Given the description of an element on the screen output the (x, y) to click on. 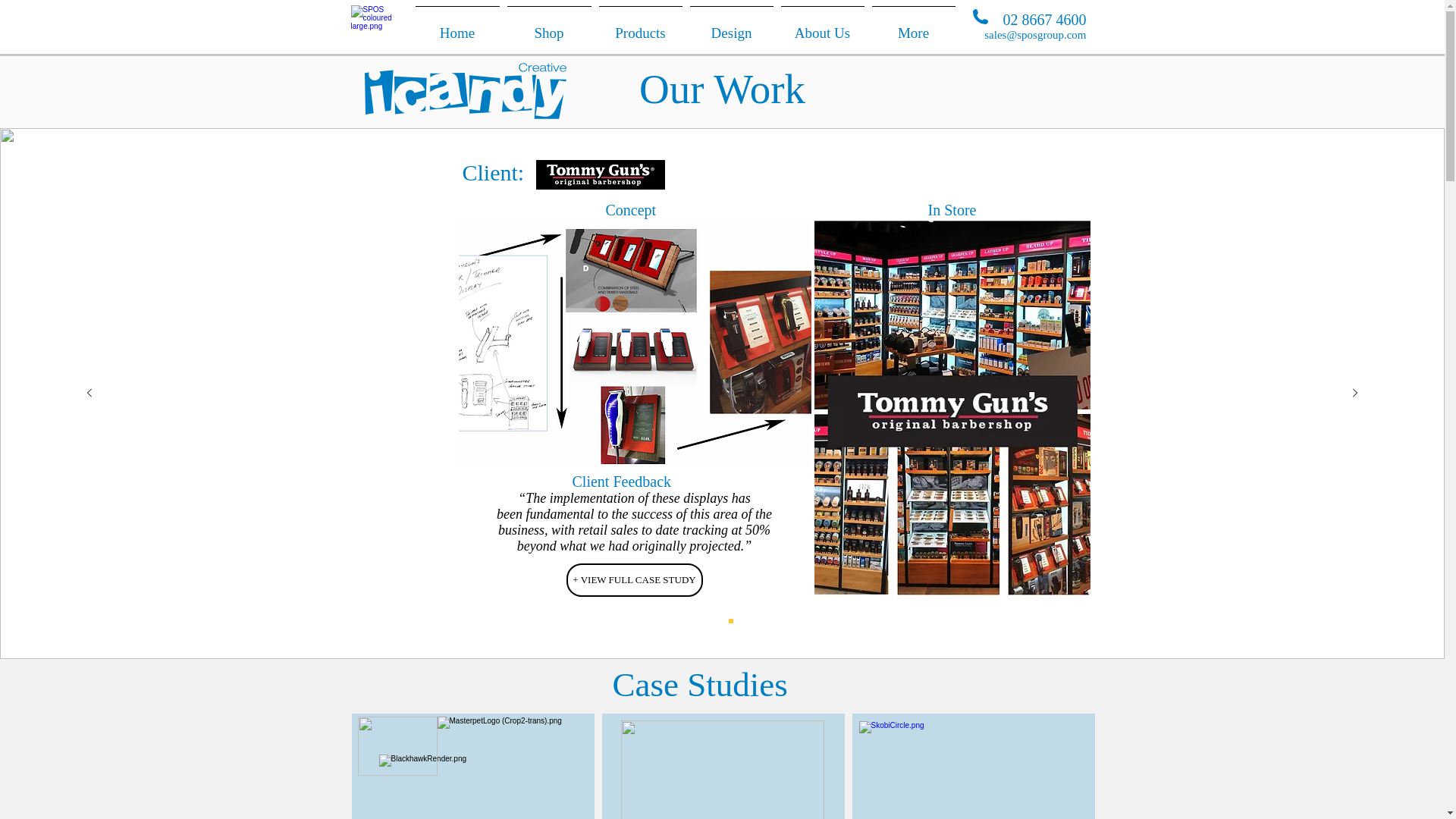
+ VIEW FULL CASE STUDY Element type: text (633, 579)
Design Element type: text (730, 26)
Blackhawk_Framed_resize3.JPG Element type: hover (952, 408)
Home Element type: text (456, 26)
About Us Element type: text (821, 26)
Concept 1.png Element type: hover (634, 343)
MasterpetLogo (Crop).png Element type: hover (599, 174)
Shop Element type: text (549, 26)
Blackhawk Logo.png Element type: hover (397, 745)
sales@sposgroup.com Element type: text (1034, 34)
MasterpetLogo (Crop).png Element type: hover (511, 735)
Products Element type: text (639, 26)
